Given the description of an element on the screen output the (x, y) to click on. 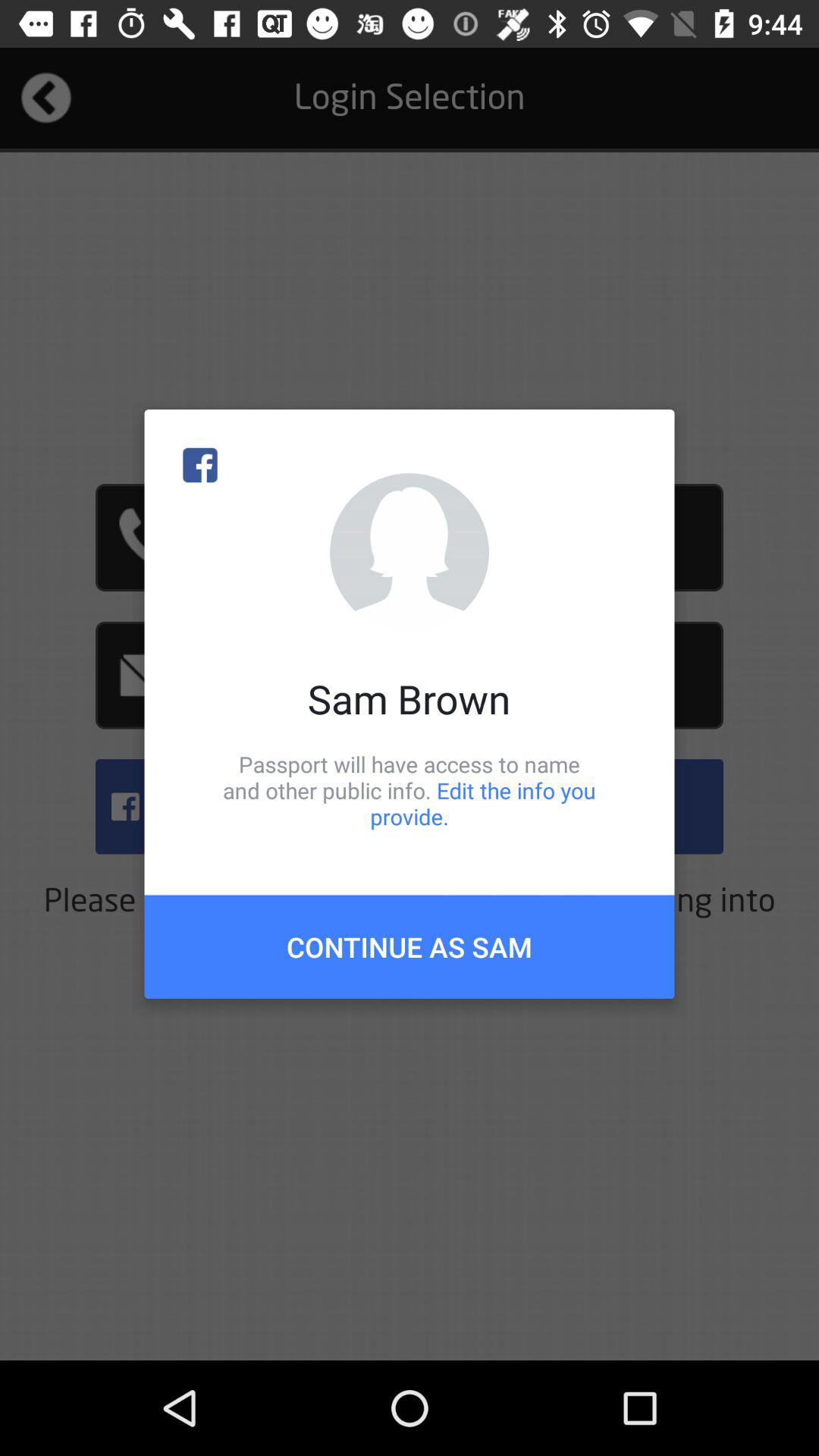
launch item above the continue as sam icon (409, 790)
